Given the description of an element on the screen output the (x, y) to click on. 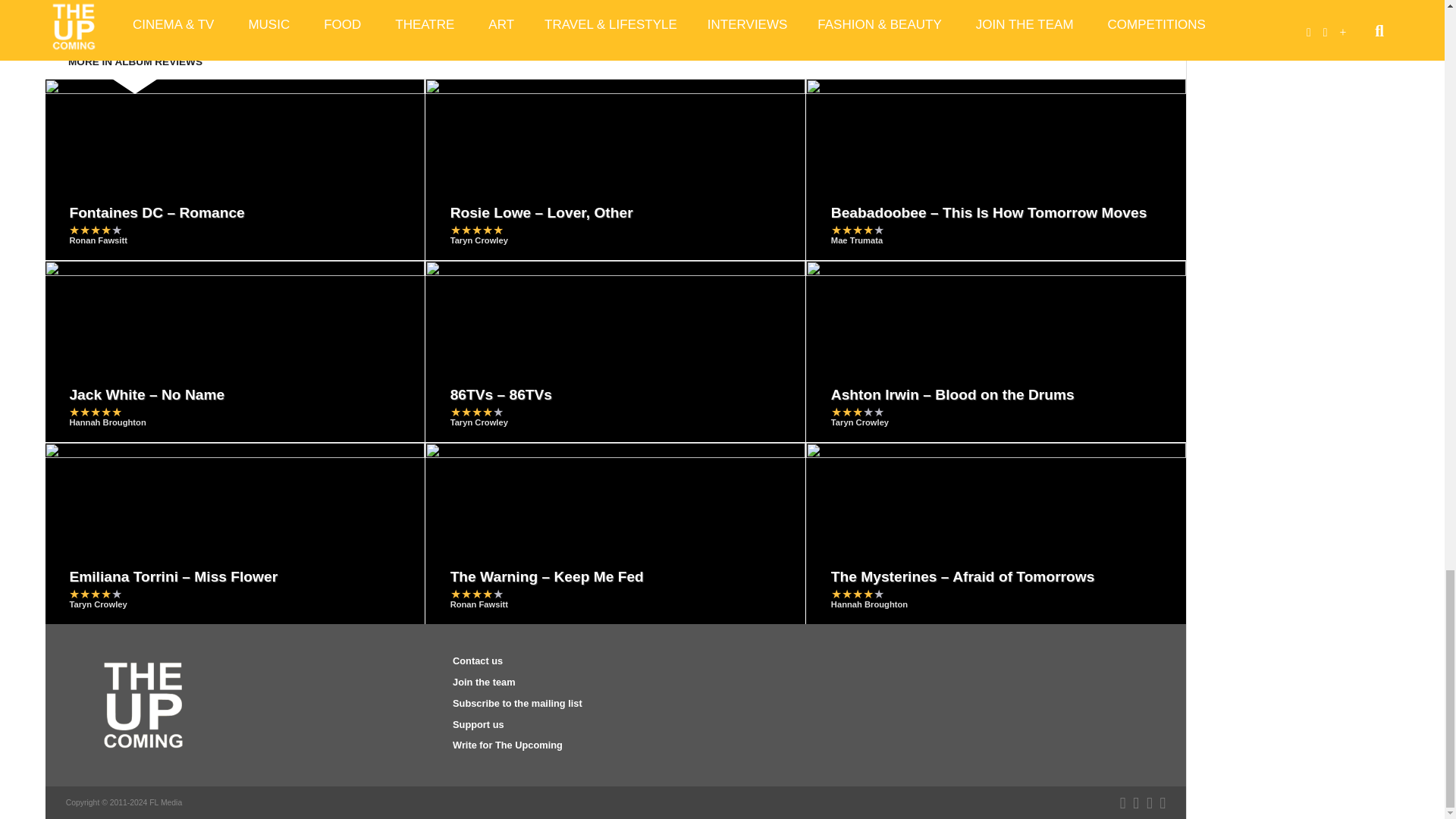
5 out of 5 stars (476, 229)
4 out of 5 stars (95, 229)
4 out of 5 stars (857, 229)
